Given the description of an element on the screen output the (x, y) to click on. 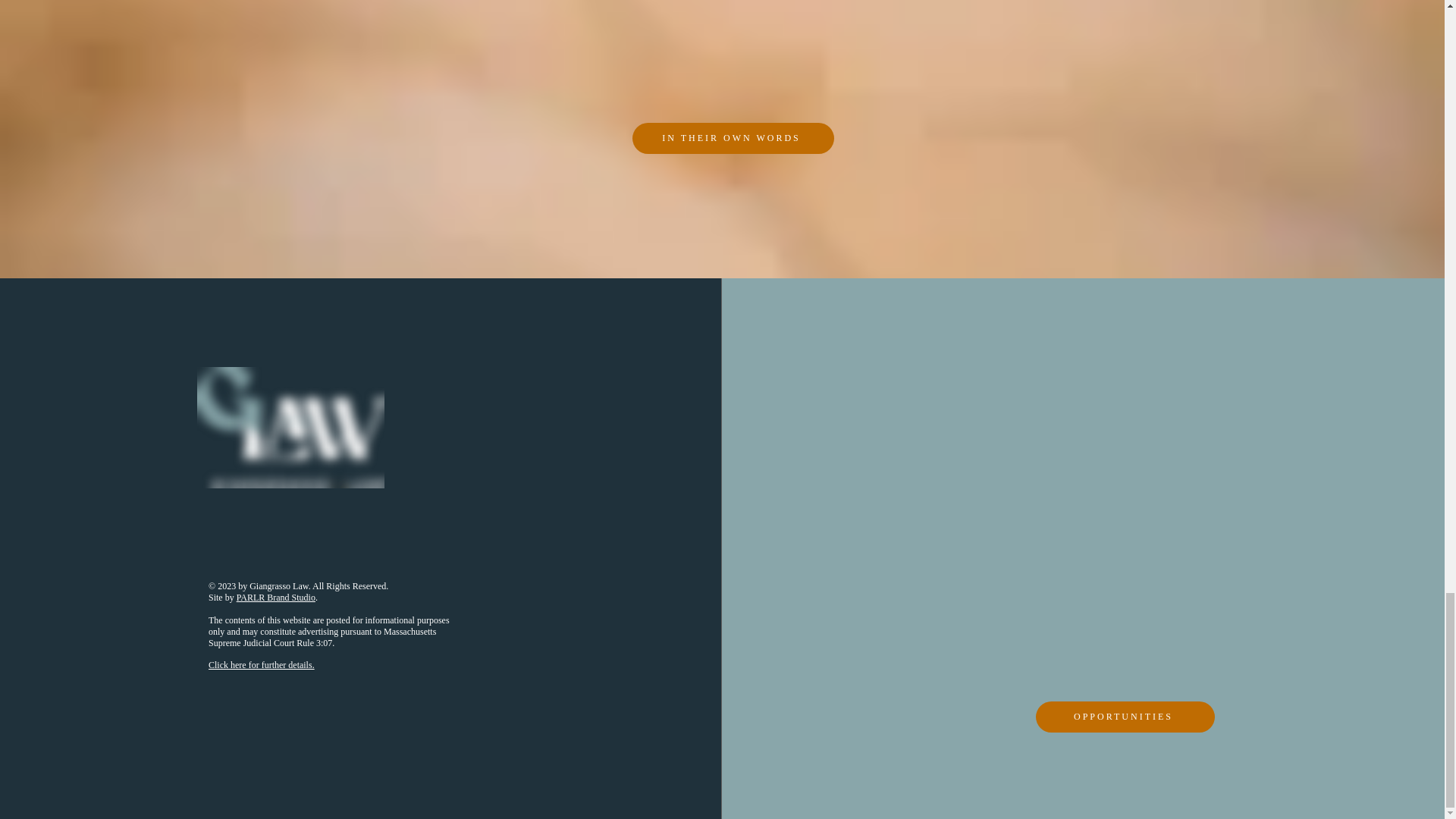
OPPORTUNITIES (1124, 716)
IN THEIR OWN WORDS (732, 137)
PARLR Brand Studio (275, 597)
Click here for further details. (261, 665)
